Given the description of an element on the screen output the (x, y) to click on. 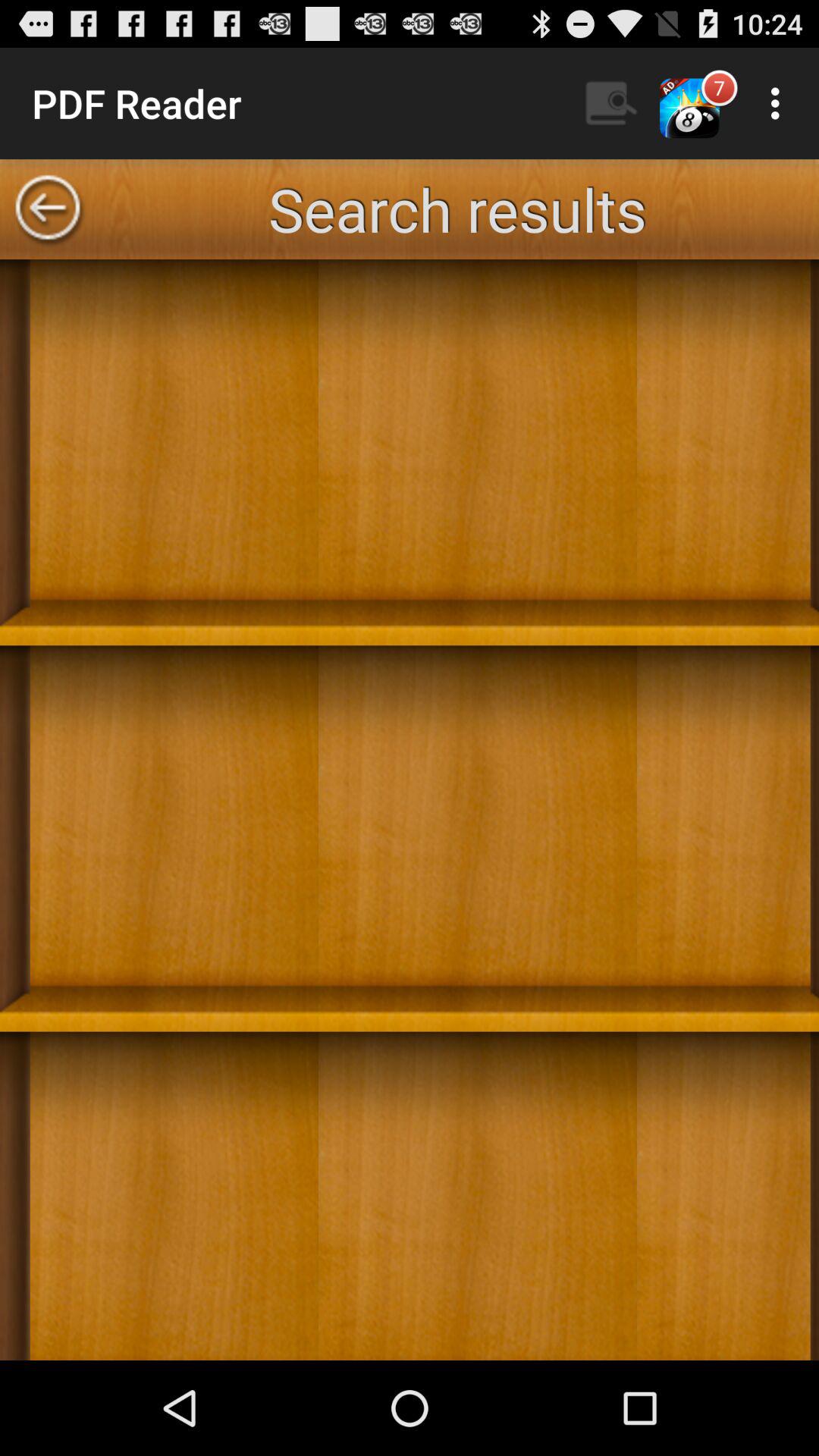
empty bookshelf (409, 809)
